Given the description of an element on the screen output the (x, y) to click on. 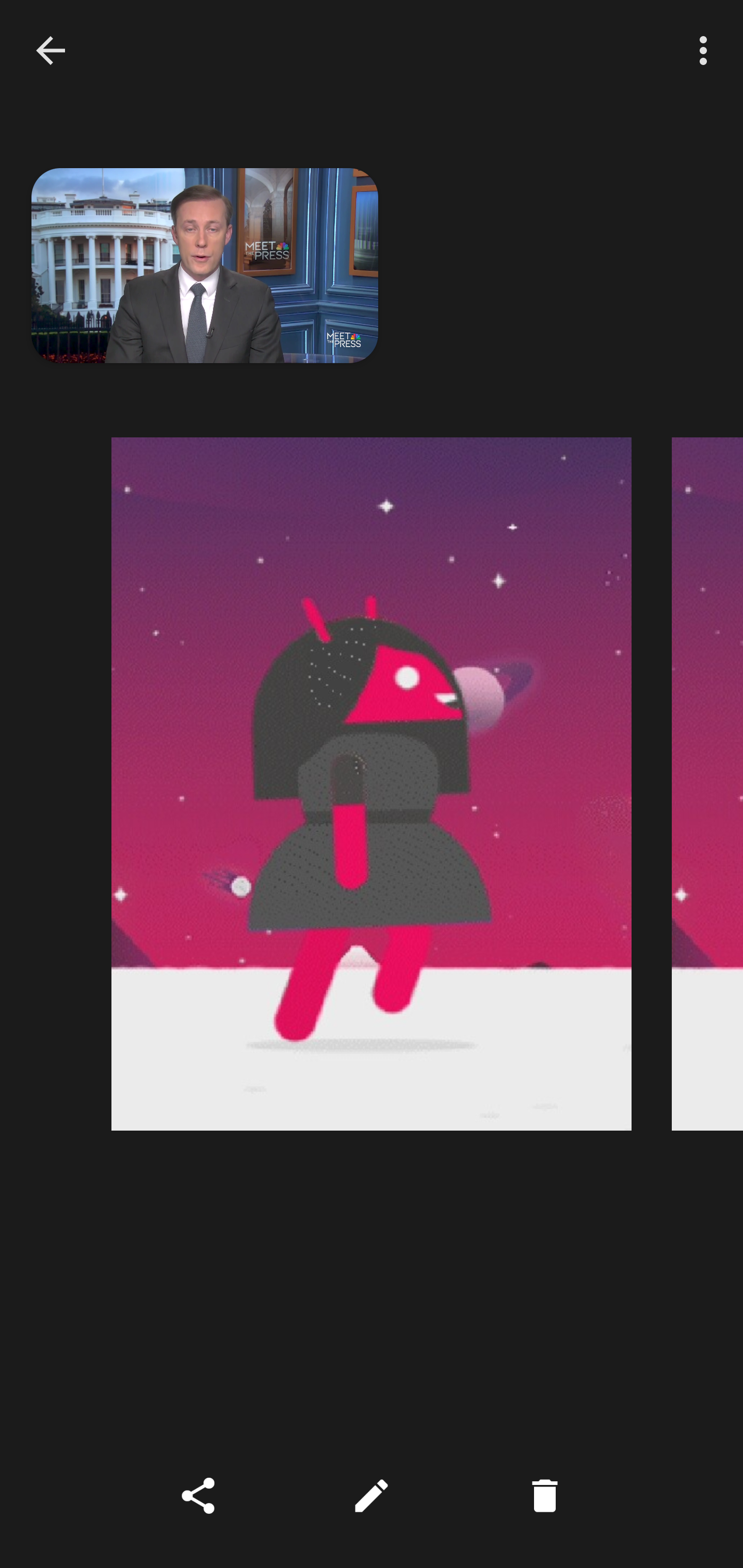
Navigate up (50, 50)
More options (706, 50)
Share (197, 1495)
Edit (371, 1495)
Delete (544, 1495)
